Given the description of an element on the screen output the (x, y) to click on. 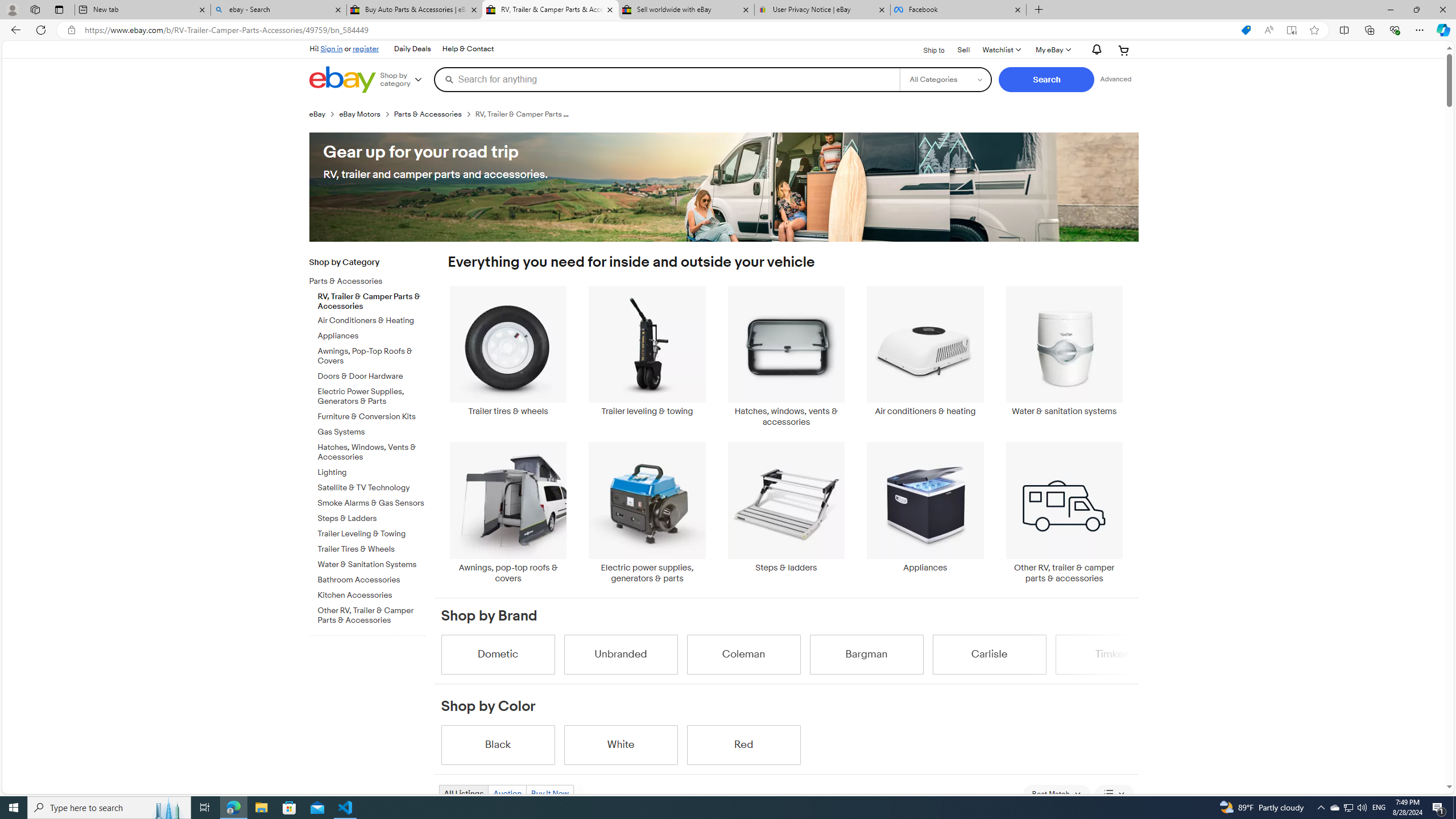
User Privacy Notice | eBay (822, 9)
Steps & Ladders (371, 516)
Gas Systems (371, 430)
Sort: Best Match (1056, 793)
Air conditioners & heating (925, 351)
Electric power supplies, generators & parts (646, 512)
Kitchen Accessories (371, 593)
View site information (70, 29)
Electric power supplies, generators & parts (646, 512)
White (620, 744)
Sell worldwide with eBay (685, 9)
Trailer tires & wheels (508, 351)
Collections (1369, 29)
Steps & ladders (786, 512)
Satellite & TV Technology (371, 488)
